Given the description of an element on the screen output the (x, y) to click on. 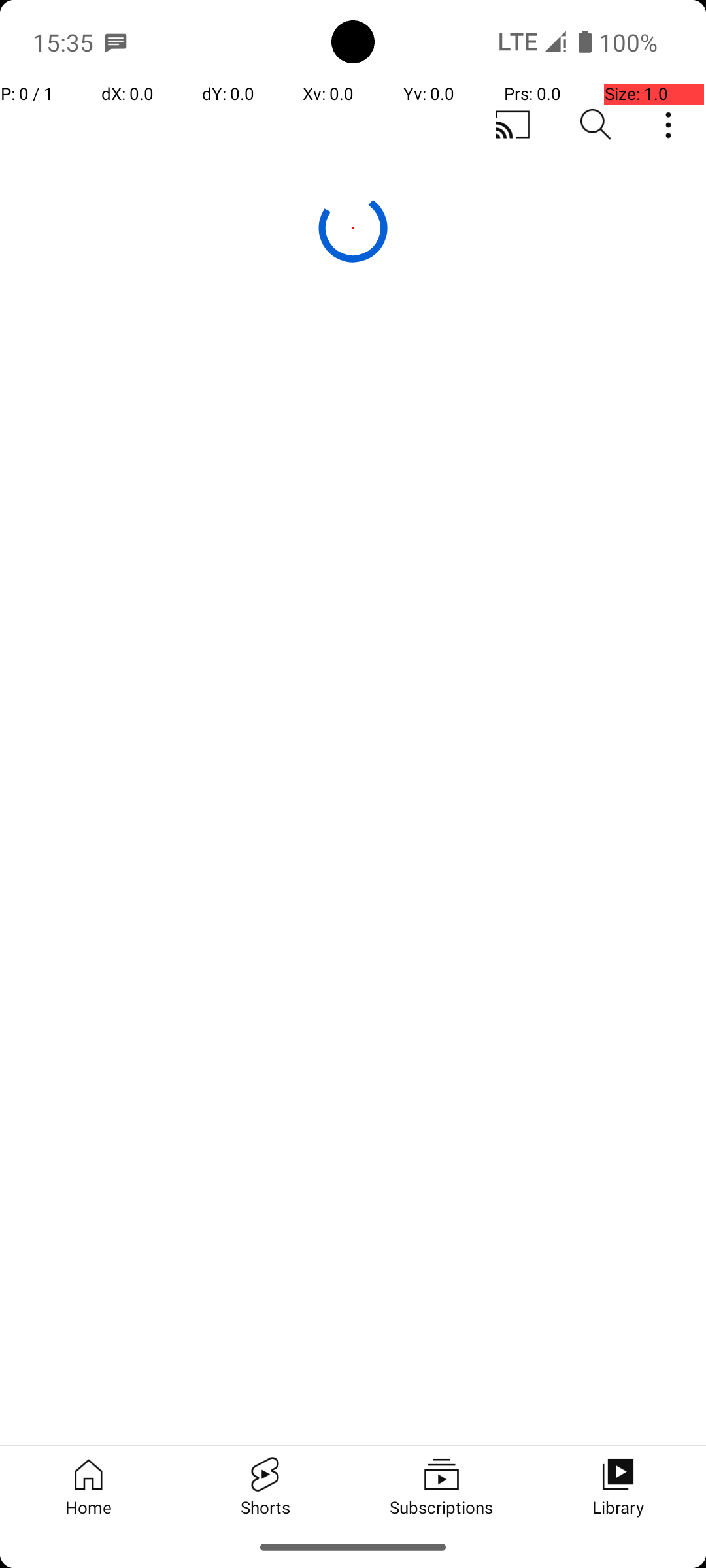
Cast. Disconnected Element type: android.view.View (512, 124)
Shorts Element type: android.widget.Button (264, 1485)
Library Element type: android.widget.Button (617, 1485)
SMS Messenger notification: +15505050843 Element type: android.widget.ImageView (115, 41)
